Given the description of an element on the screen output the (x, y) to click on. 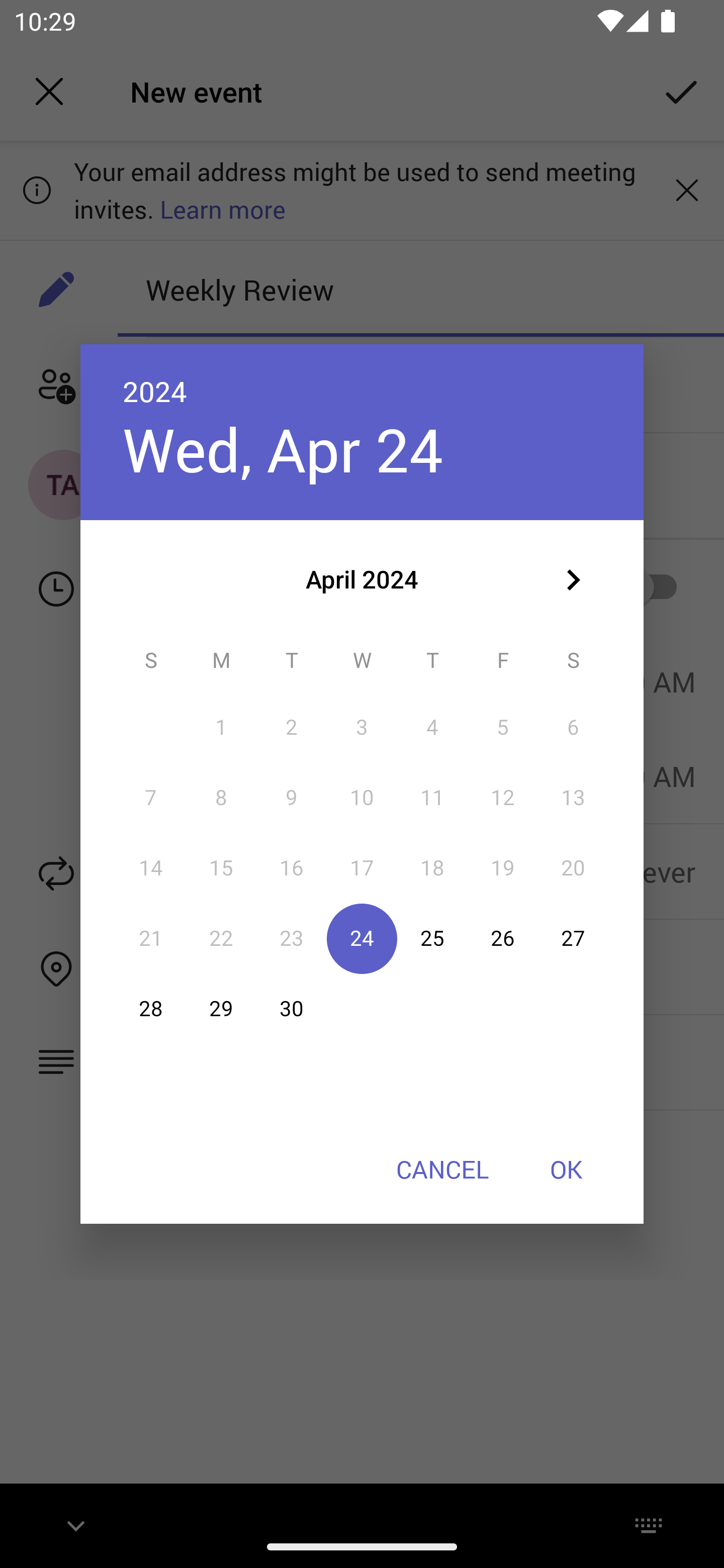
2024 (154, 391)
Wed, Apr 24 (282, 449)
Next month (572, 579)
1 01 April 2024 (221, 728)
2 02 April 2024 (291, 728)
3 03 April 2024 (361, 728)
4 04 April 2024 (432, 728)
5 05 April 2024 (502, 728)
6 06 April 2024 (572, 728)
7 07 April 2024 (150, 797)
8 08 April 2024 (221, 797)
9 09 April 2024 (291, 797)
10 10 April 2024 (361, 797)
11 11 April 2024 (432, 797)
12 12 April 2024 (502, 797)
13 13 April 2024 (572, 797)
14 14 April 2024 (150, 867)
15 15 April 2024 (221, 867)
16 16 April 2024 (291, 867)
17 17 April 2024 (361, 867)
18 18 April 2024 (432, 867)
19 19 April 2024 (502, 867)
20 20 April 2024 (572, 867)
21 21 April 2024 (150, 938)
22 22 April 2024 (221, 938)
23 23 April 2024 (291, 938)
24 24 April 2024 (361, 938)
25 25 April 2024 (432, 938)
26 26 April 2024 (502, 938)
27 27 April 2024 (572, 938)
28 28 April 2024 (150, 1008)
29 29 April 2024 (221, 1008)
30 30 April 2024 (291, 1008)
CANCEL (442, 1168)
OK (565, 1168)
